Given the description of an element on the screen output the (x, y) to click on. 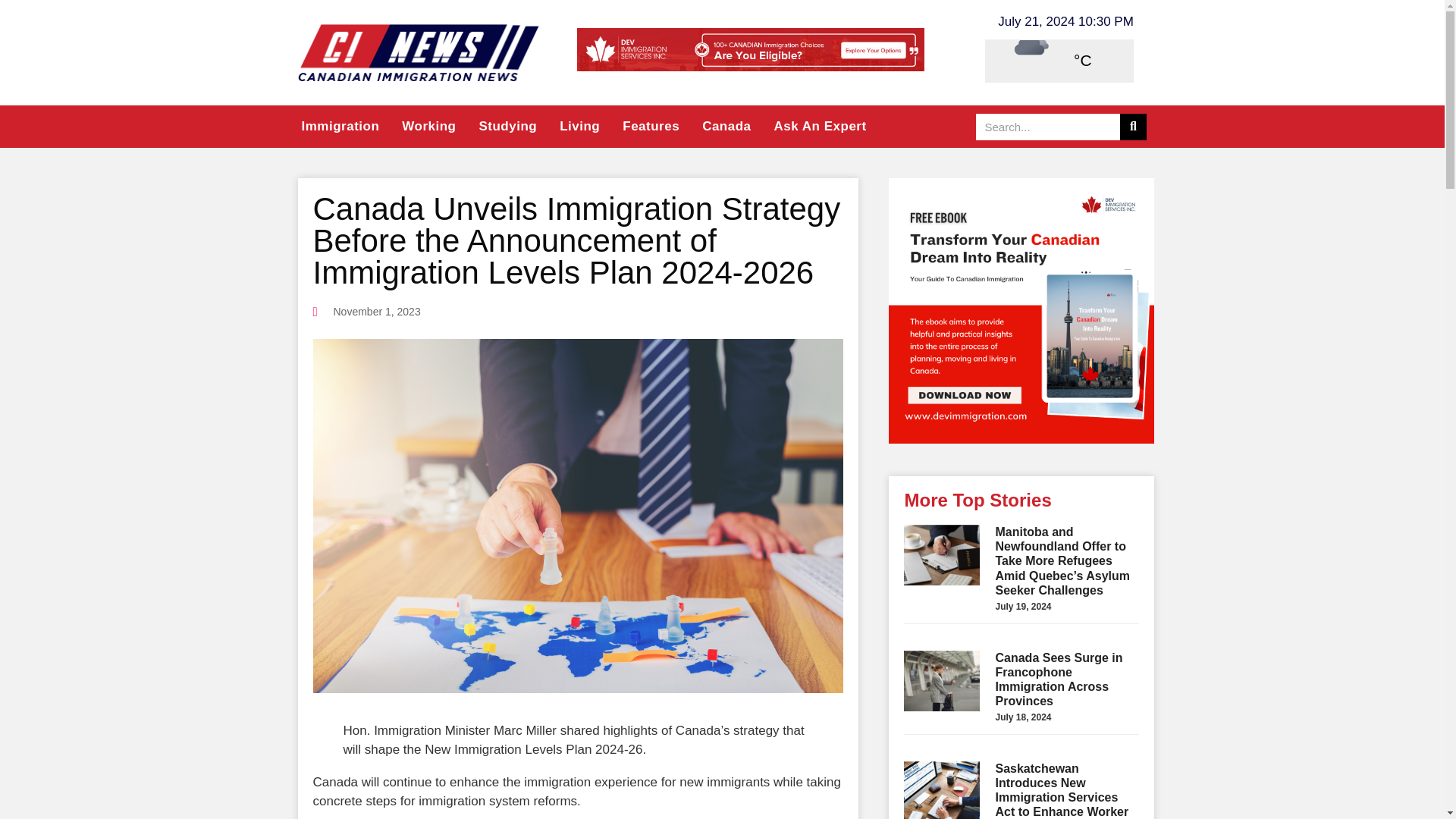
Working (428, 126)
Search (1047, 126)
Immigration (339, 126)
Features (650, 126)
Studying (507, 126)
Search (1133, 126)
November 1, 2023 (366, 311)
Ask An Expert (819, 126)
Living (579, 126)
Canada (725, 126)
